Given the description of an element on the screen output the (x, y) to click on. 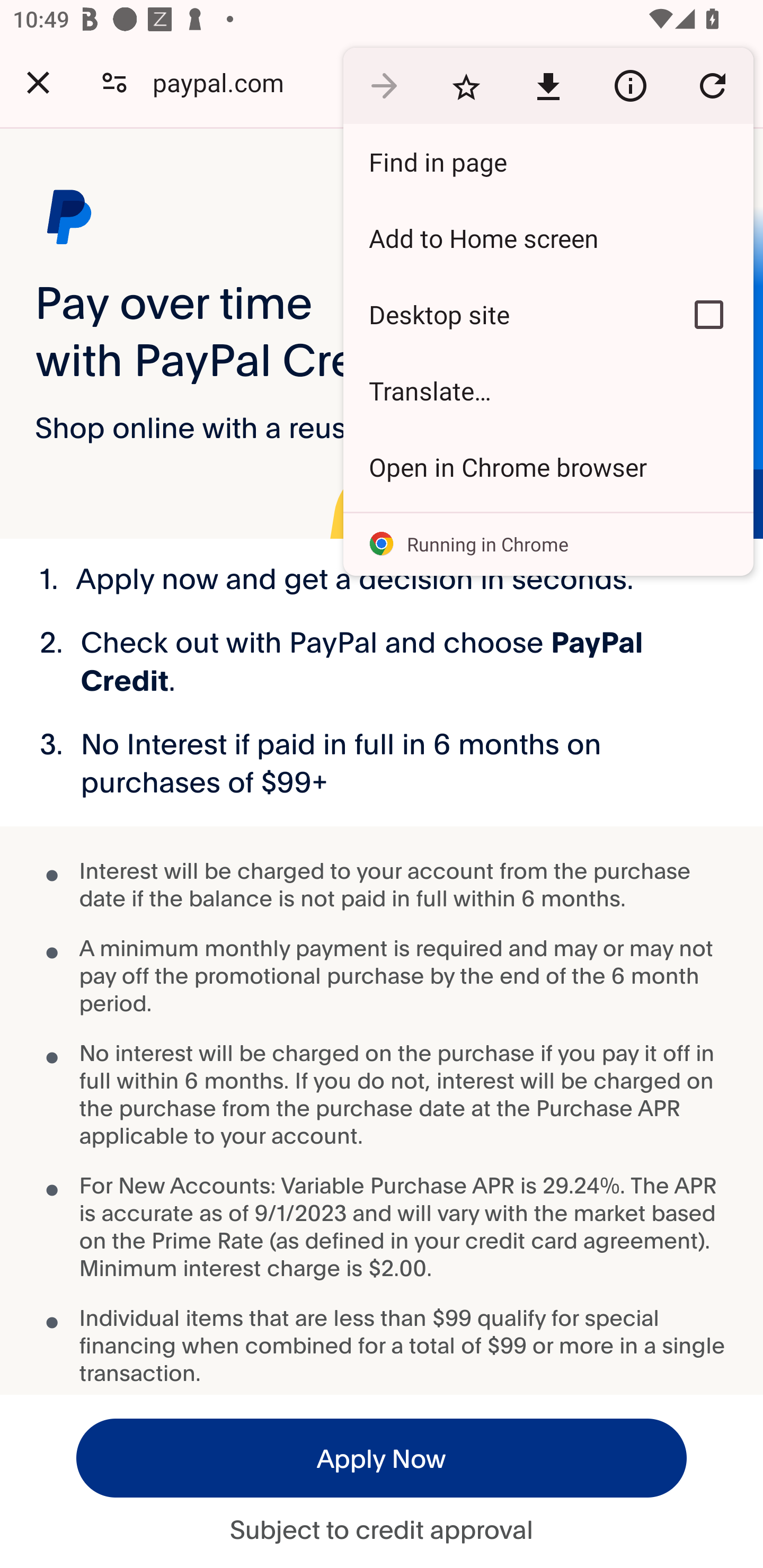
Go forward (383, 85)
Bookmark (465, 85)
Download this page (548, 85)
View site information (630, 85)
Refresh (712, 85)
Find in page (548, 161)
Add to Home screen (548, 237)
Desktop site Turn on Request desktop site (503, 313)
Translate… (548, 390)
Open in Chrome browser (548, 466)
